Given the description of an element on the screen output the (x, y) to click on. 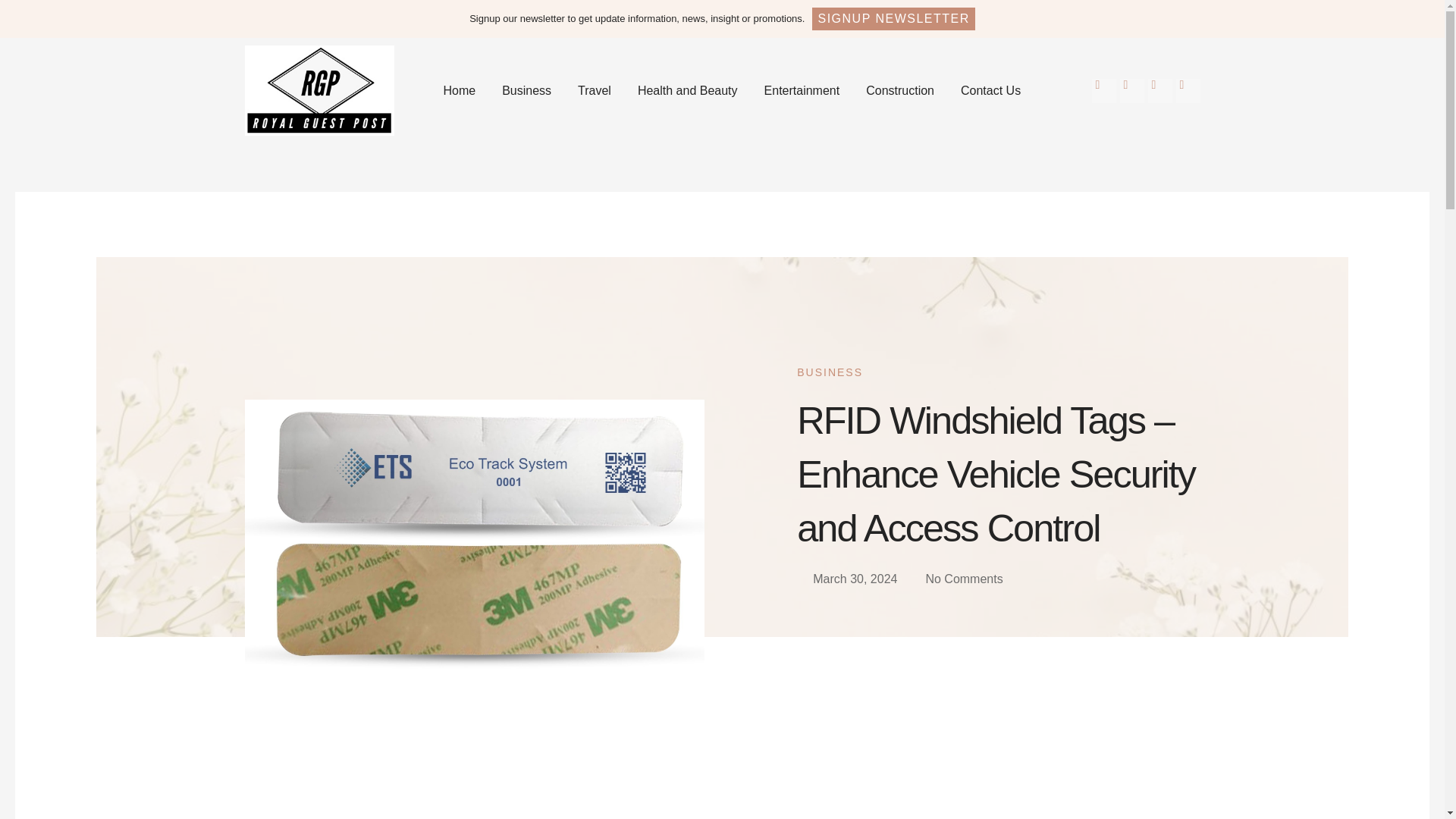
Contact Us (990, 90)
March 30, 2024 (846, 579)
Construction (900, 90)
BUSINESS (829, 372)
Business (526, 90)
Health and Beauty (687, 90)
No Comments (955, 579)
Entertainment (802, 90)
SIGNUP NEWSLETTER (893, 18)
